Given the description of an element on the screen output the (x, y) to click on. 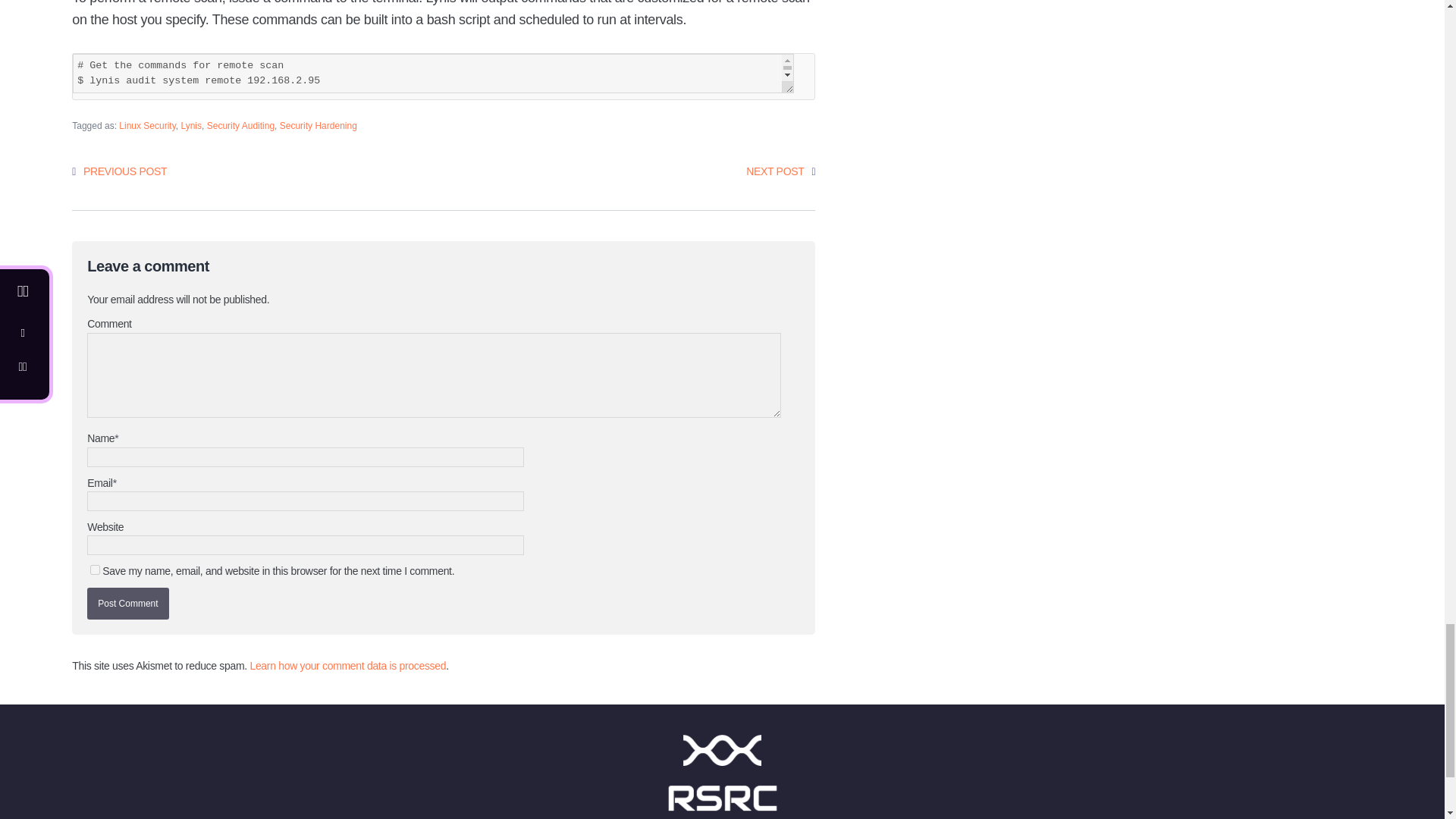
yes (95, 569)
Post Comment (127, 603)
